Given the description of an element on the screen output the (x, y) to click on. 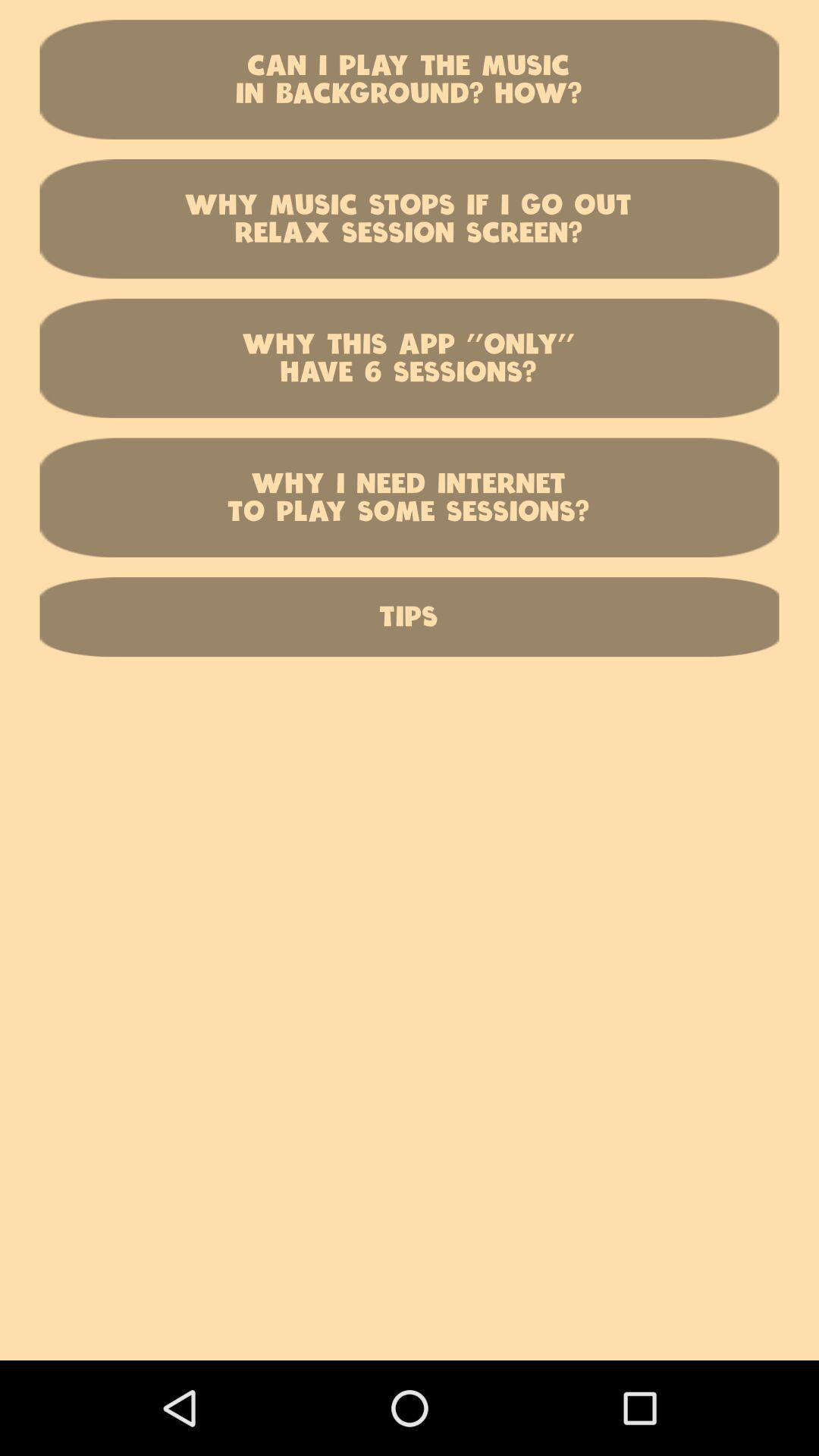
choose the icon below why music stops item (409, 358)
